Given the description of an element on the screen output the (x, y) to click on. 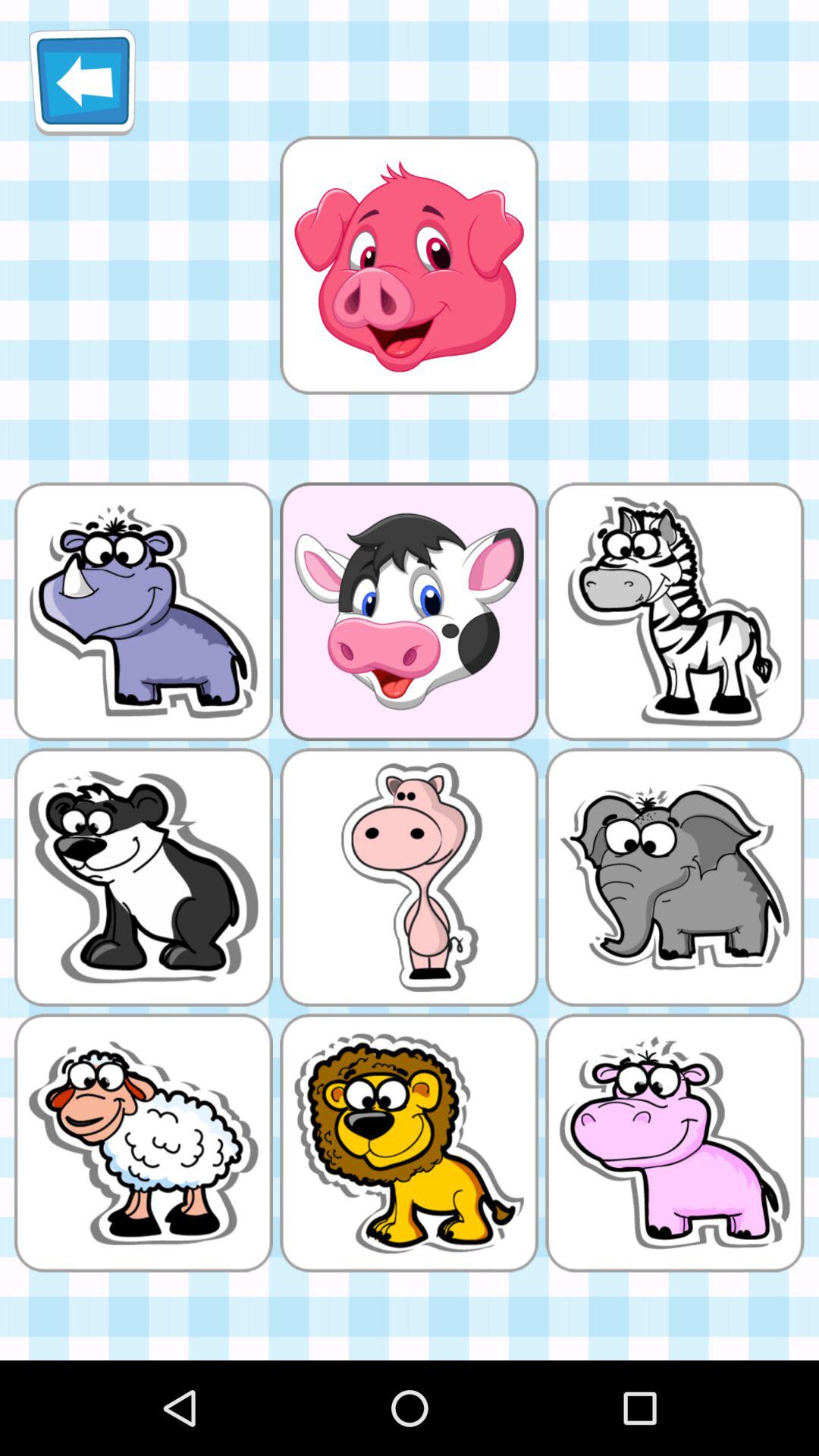
toggle emogi (409, 264)
